Given the description of an element on the screen output the (x, y) to click on. 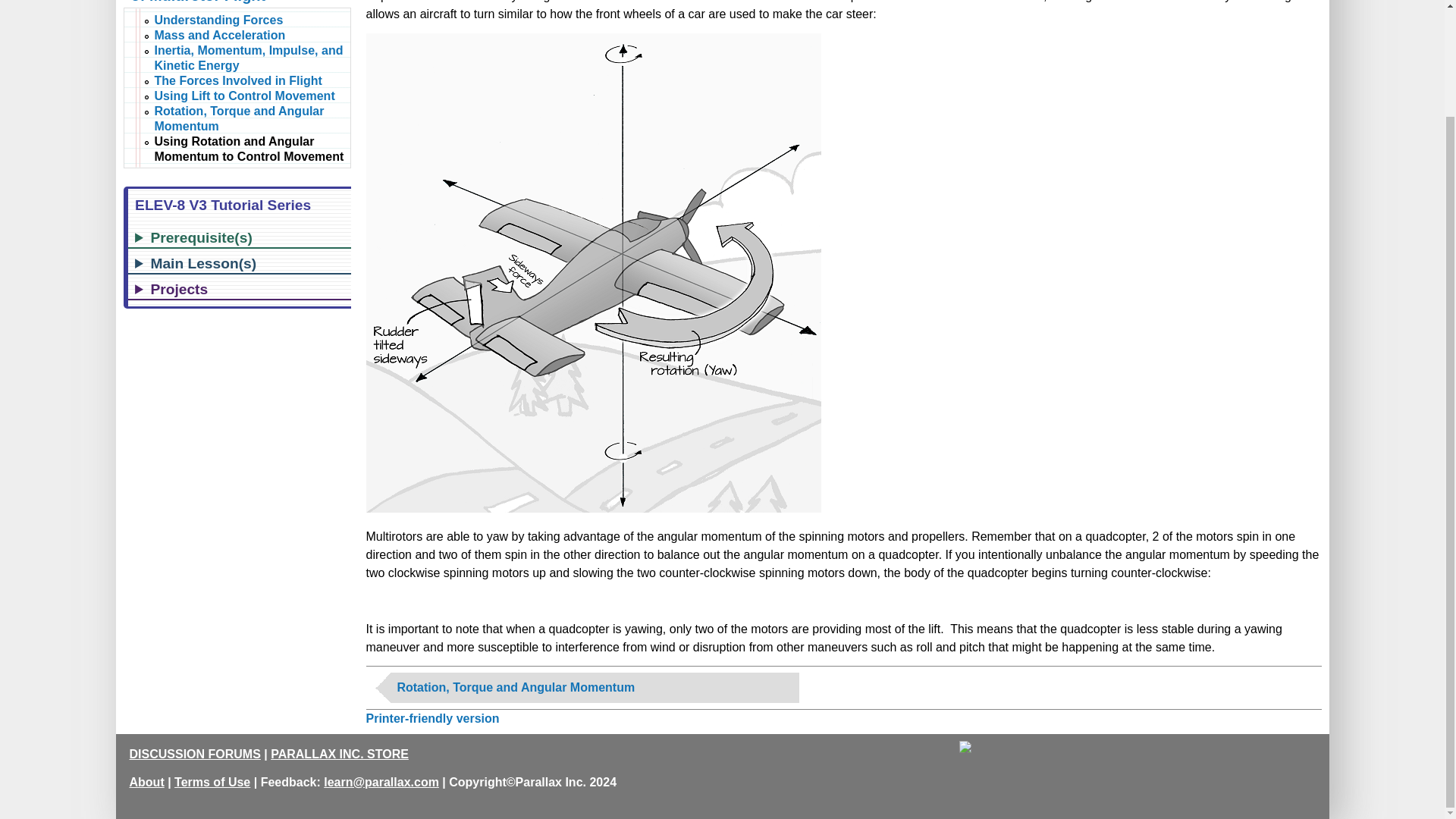
Rotation, Torque and Angular Momentum (593, 687)
Go to previous page (593, 687)
Display a printer-friendly version of this page. (432, 717)
